Given the description of an element on the screen output the (x, y) to click on. 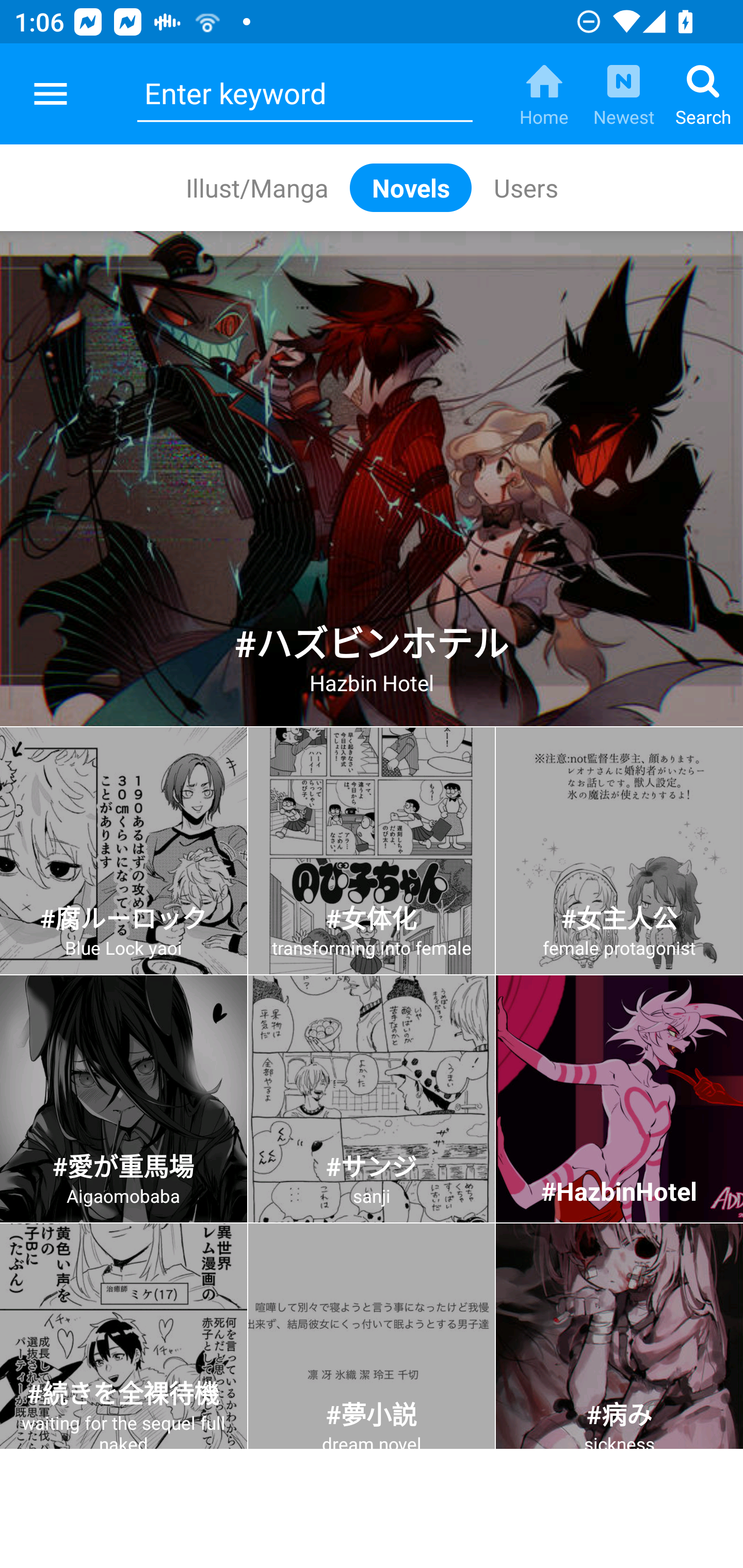
pixiv (50, 93)
Home (543, 93)
Newest (623, 93)
Enter keyword (304, 93)
Illust/Manga (256, 187)
Novels (410, 187)
Users (525, 187)
